Given the description of an element on the screen output the (x, y) to click on. 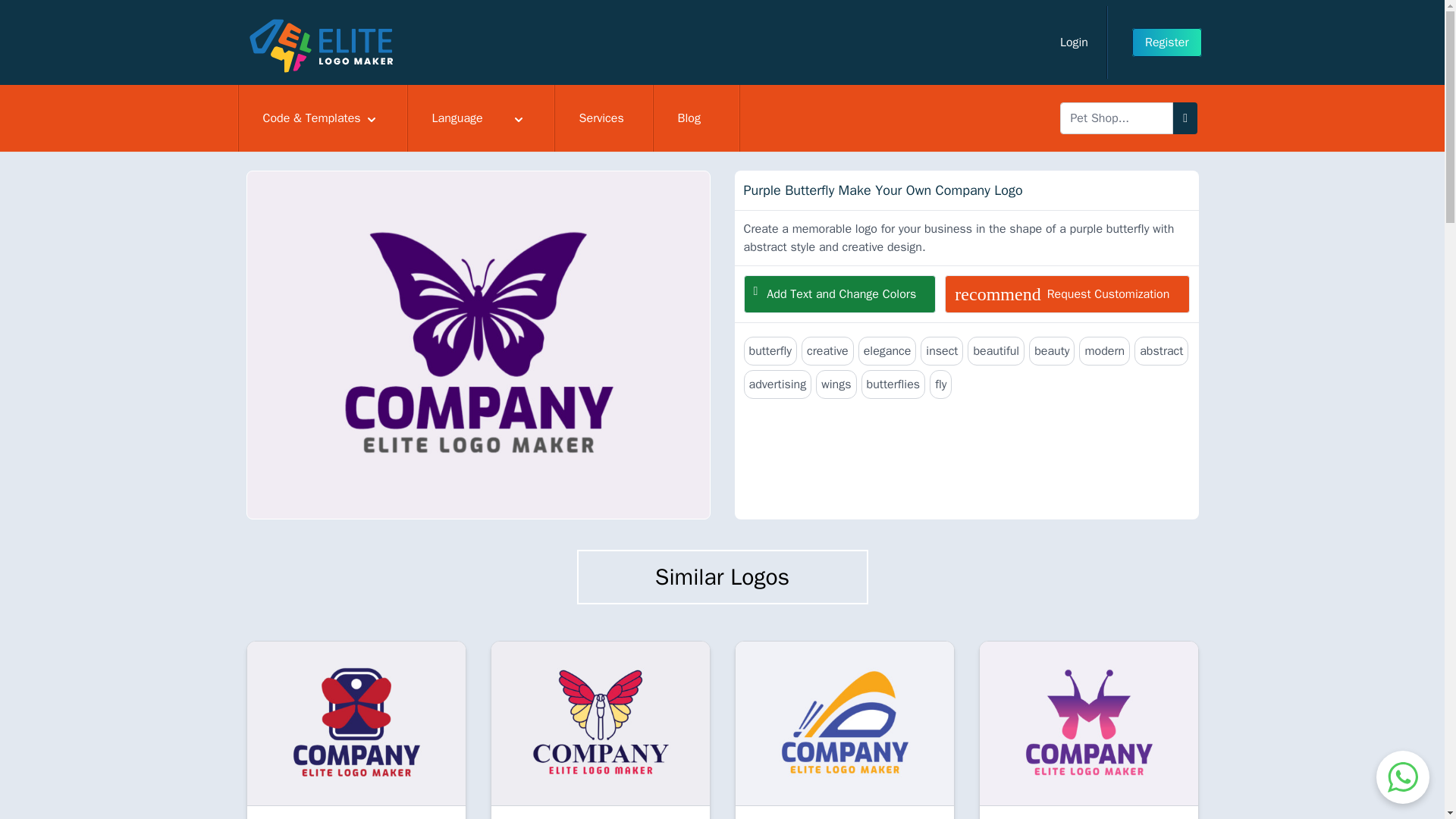
wings (835, 384)
insect (941, 350)
elegance (888, 350)
beautiful (996, 350)
Add Text and Change Colors (839, 293)
beauty (1051, 350)
Blog (695, 118)
Login (1074, 42)
butterfly (769, 350)
abstract (1161, 350)
Butterfly - Logo For Sale (601, 723)
Register (1167, 41)
modern (1103, 350)
